Given the description of an element on the screen output the (x, y) to click on. 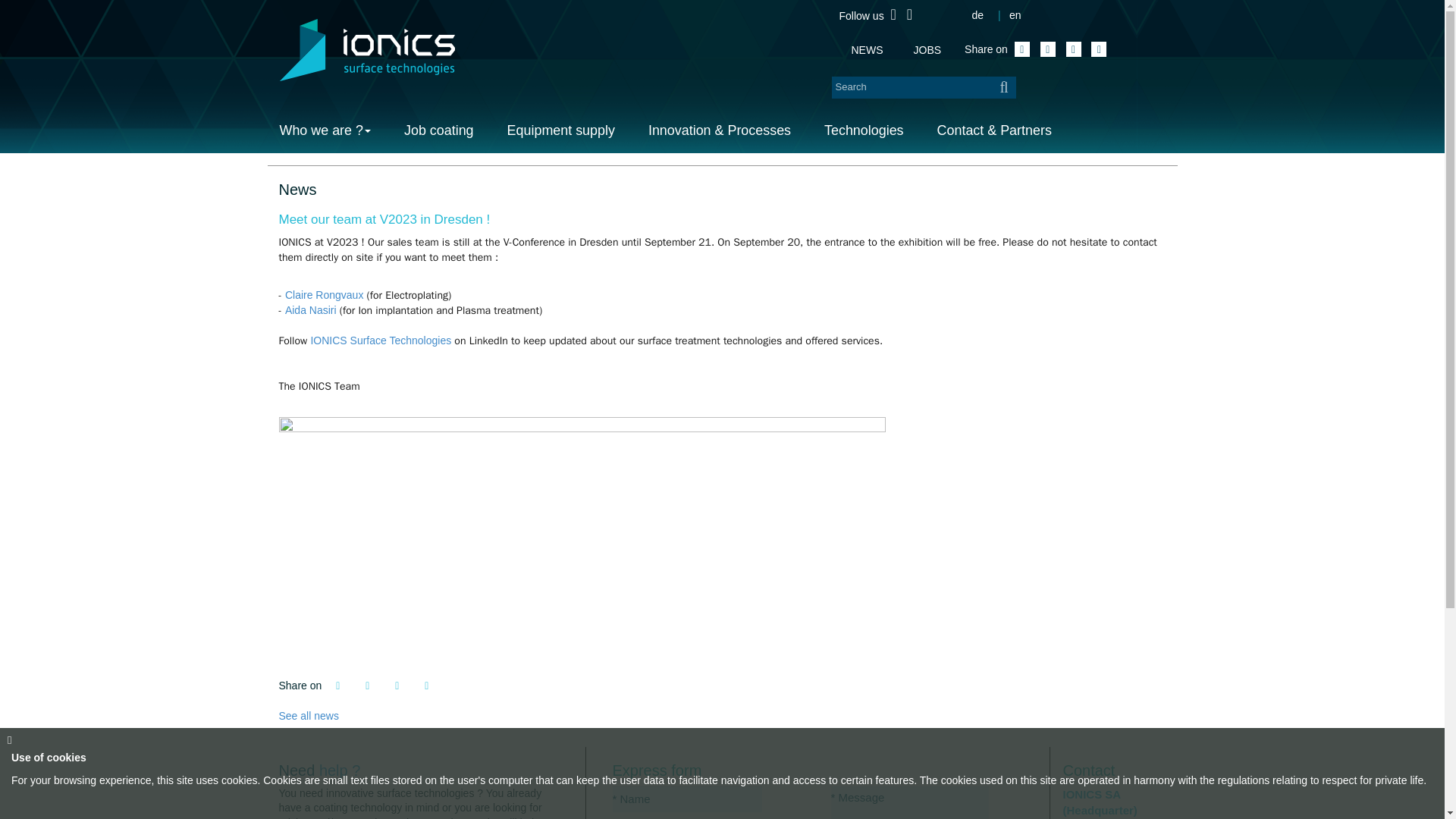
Equipment supply (560, 133)
These field cannot be empty (909, 802)
Claire Rongvaux (324, 295)
JOBS (927, 50)
Who we are ? (333, 133)
Aida Nasiri (310, 309)
IONICS Surface Technologies (380, 340)
Technologies (864, 133)
NEWS (867, 50)
See all news (309, 715)
Job coating (438, 133)
These field cannot be empty (686, 798)
Meet our team at V2023 in Dresden ! (722, 219)
en (1014, 14)
de (976, 14)
